Given the description of an element on the screen output the (x, y) to click on. 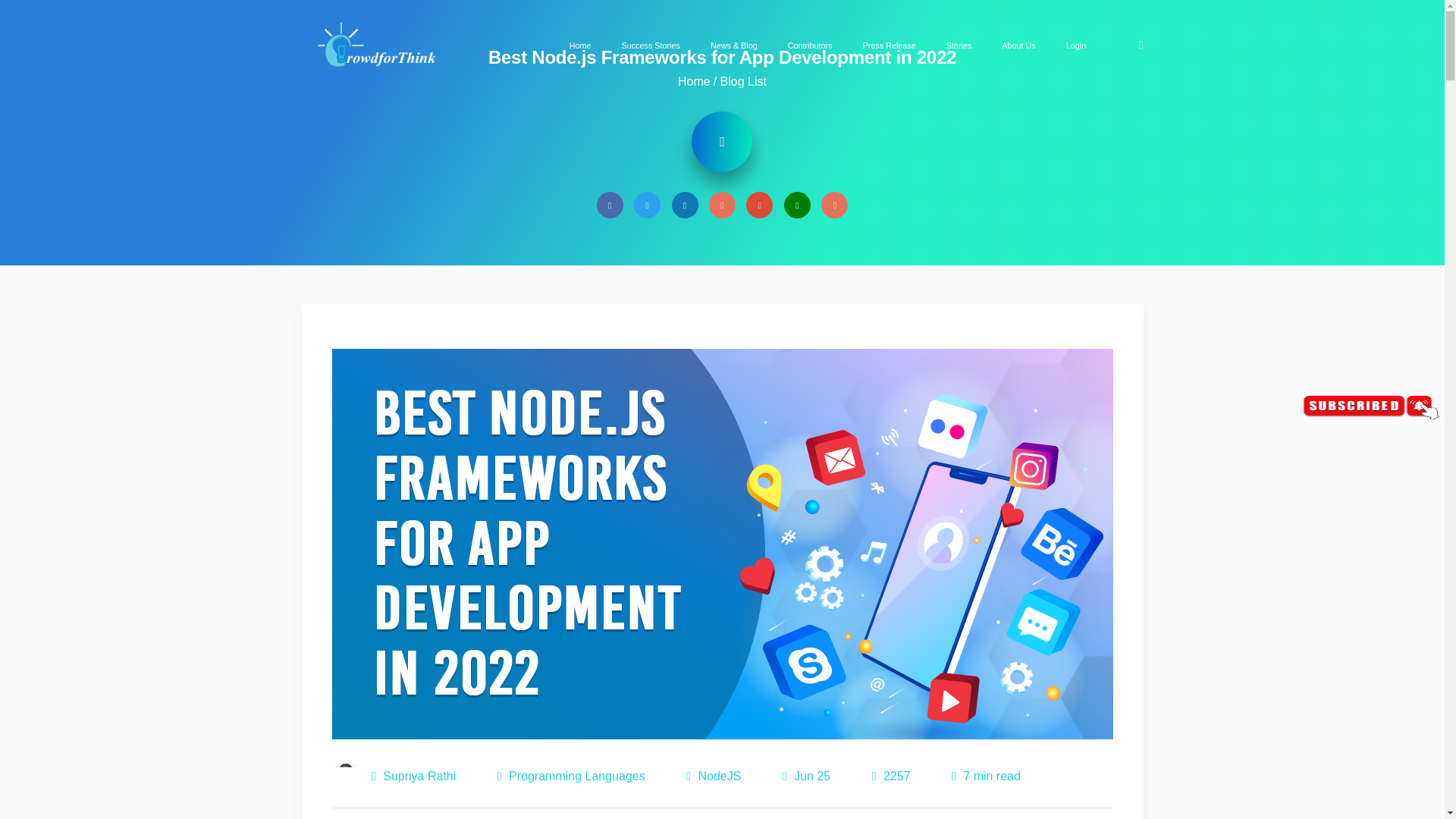
Play (721, 141)
Programming Languages (576, 775)
Supriya Rathi (346, 777)
Home (694, 81)
Blog List (743, 81)
Supriya Rathi (418, 775)
